Given the description of an element on the screen output the (x, y) to click on. 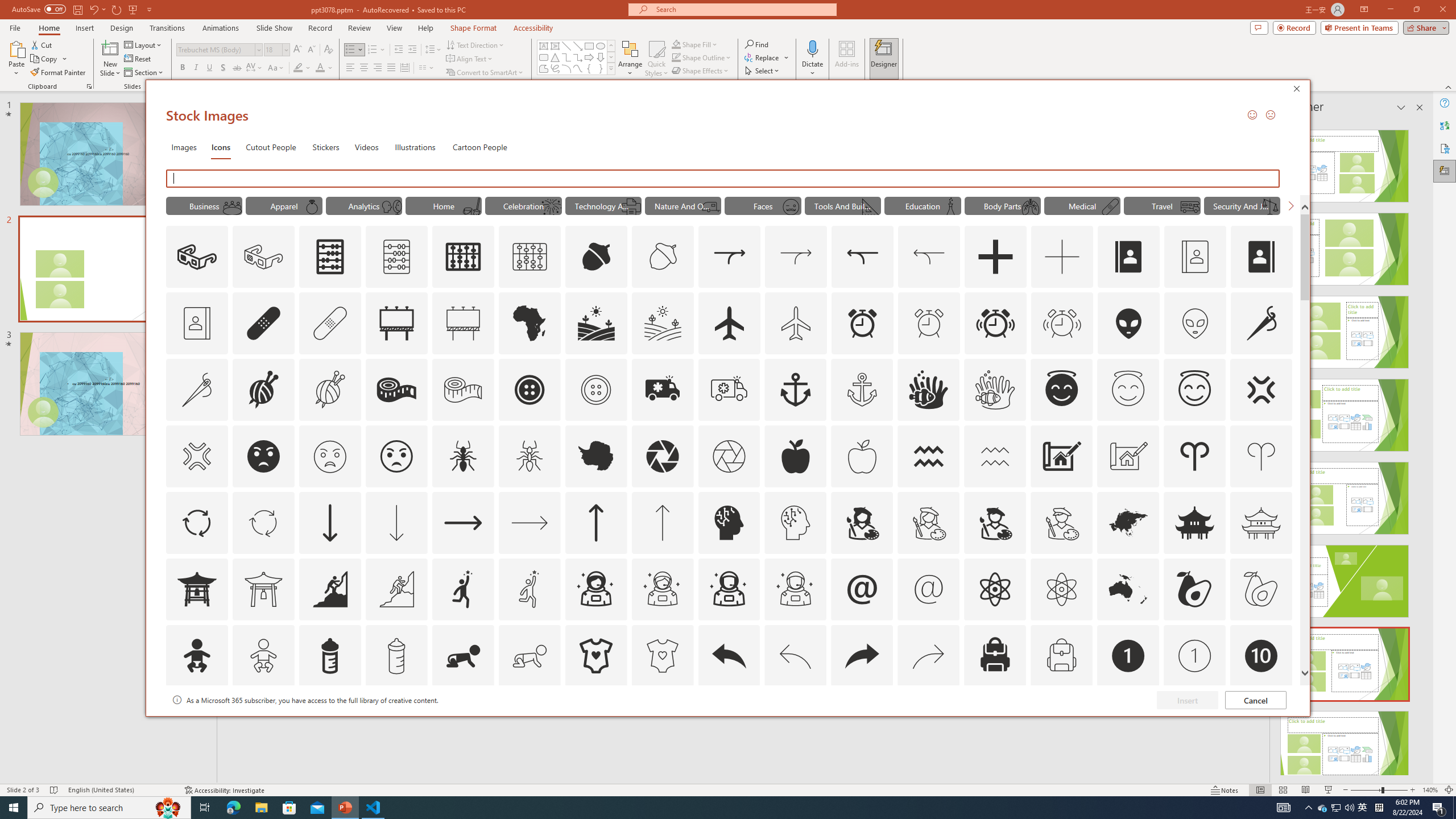
AutomationID: Icons_Advertising_M (462, 323)
AutomationID: Icons_Abacus1 (462, 256)
Shape Effects (700, 69)
AutomationID: Icons_Acorn_M (663, 256)
AutomationID: Icons_Back_RTL (861, 655)
Microsoft Edge (233, 807)
AutomationID: Icons_AdhesiveBandage (263, 323)
AutomationID: Icons_Badge5 (662, 721)
Select (762, 69)
